Given the description of an element on the screen output the (x, y) to click on. 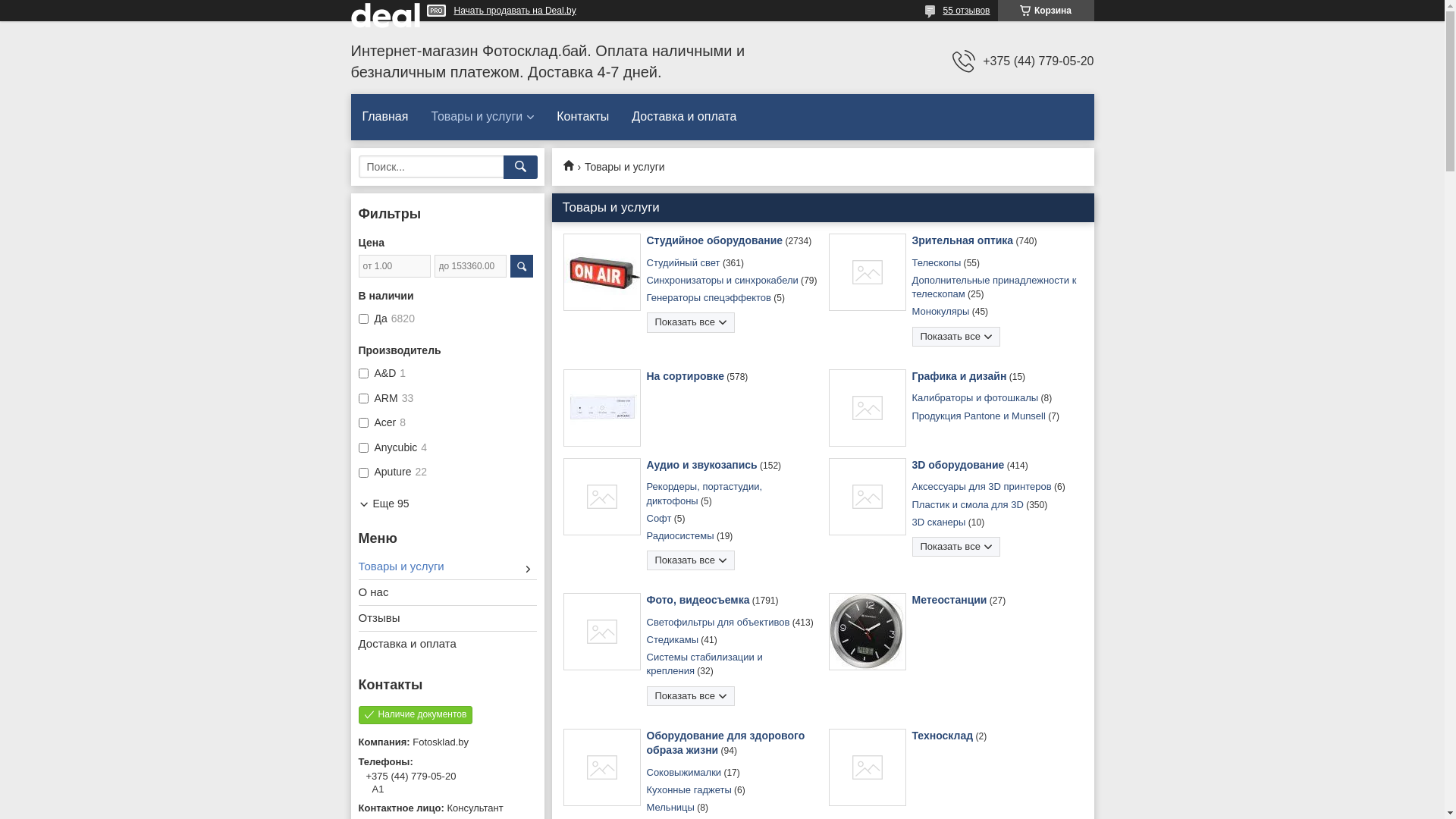
Fotosklad.by Element type: hover (572, 164)
